Given the description of an element on the screen output the (x, y) to click on. 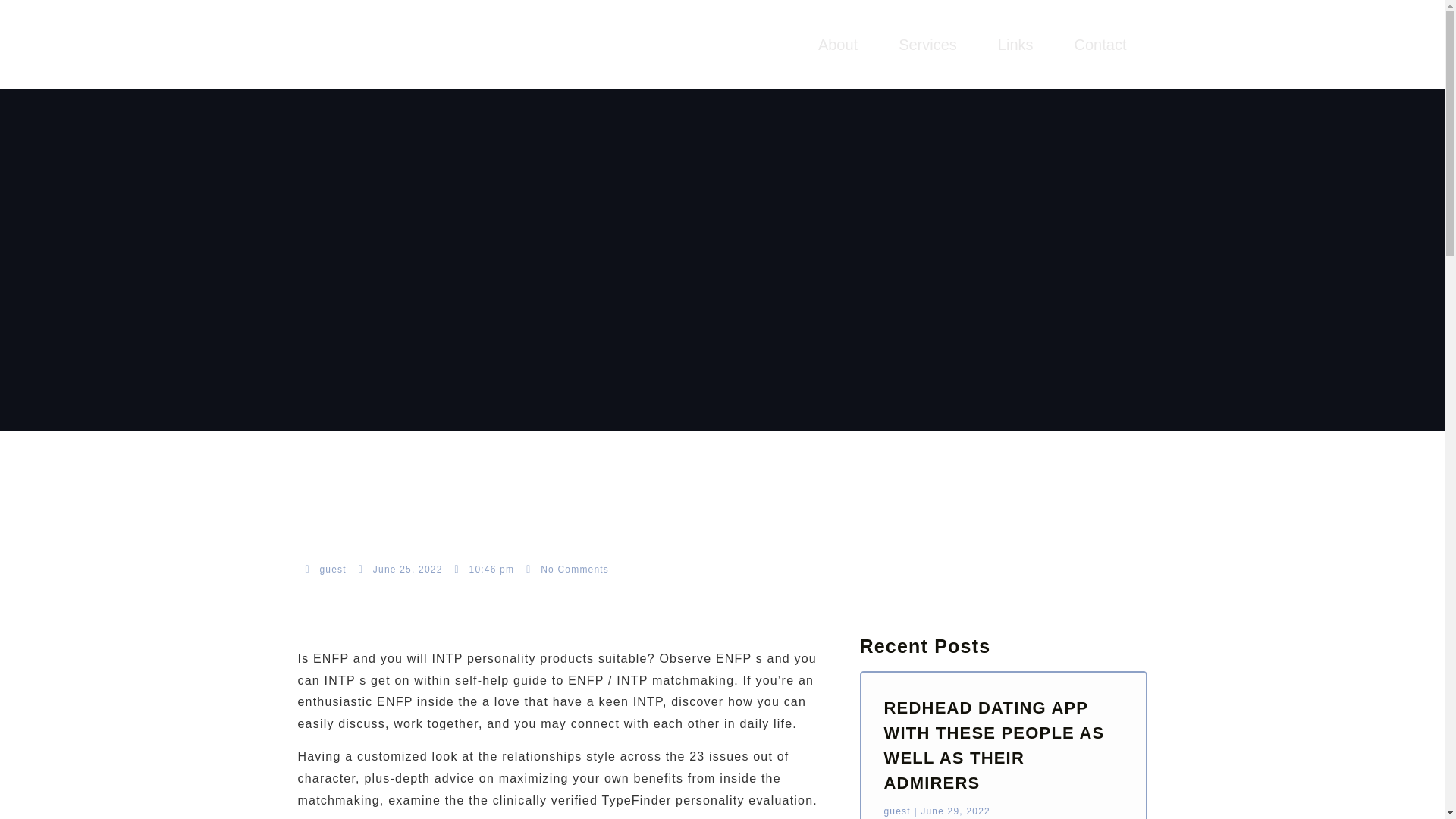
Services (926, 44)
Contact (1100, 44)
No Comments (566, 569)
June 25, 2022 (400, 569)
Links (1015, 44)
guest (325, 569)
About (837, 44)
